Given the description of an element on the screen output the (x, y) to click on. 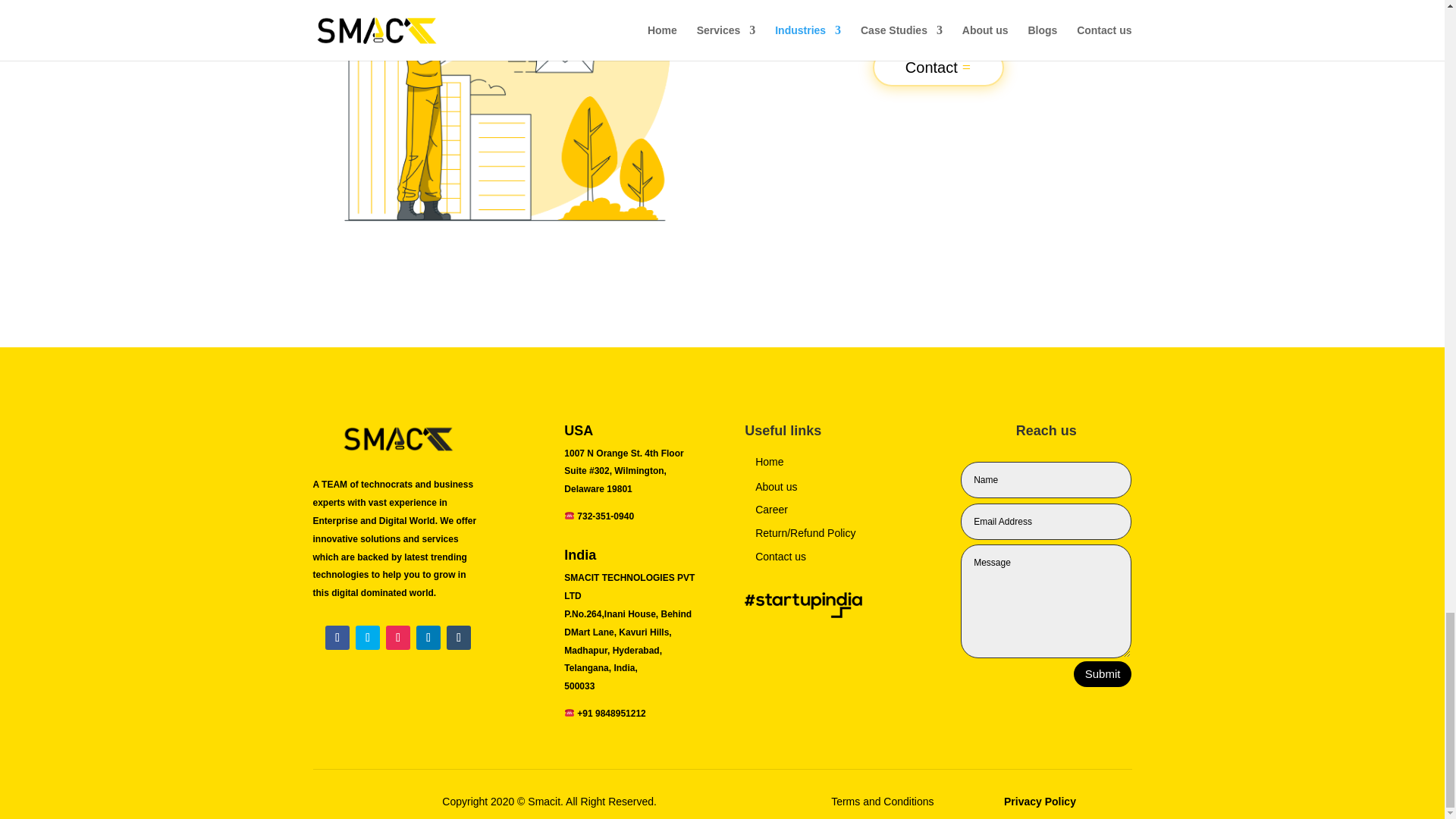
Follow on Twitter (367, 637)
Follow on Facebook (336, 637)
Follow on Instagram (397, 637)
Follow on tumblr (458, 637)
Follow on LinkedIn (428, 637)
